Given the description of an element on the screen output the (x, y) to click on. 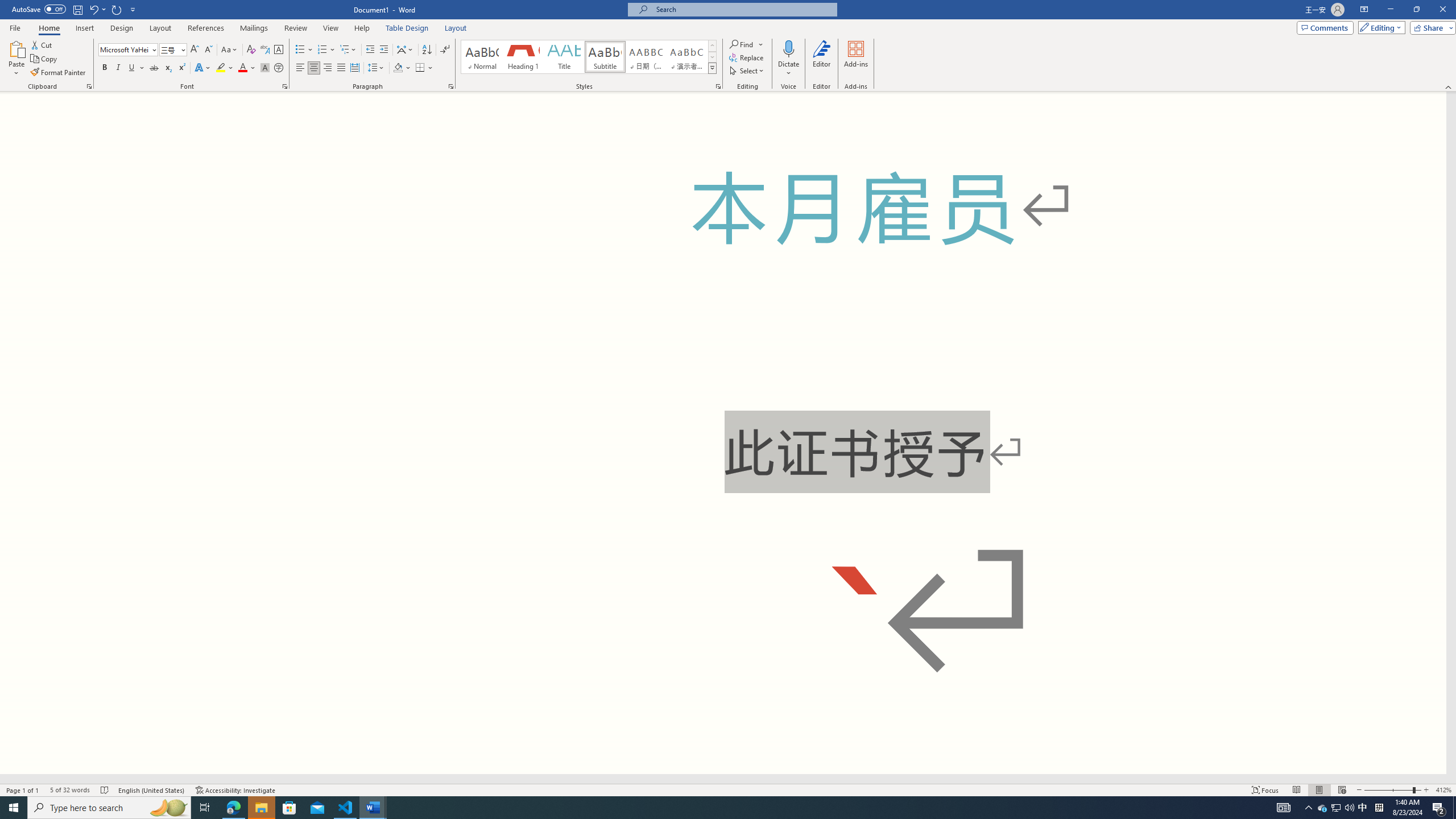
Close (1442, 9)
Character Shading (264, 67)
Save (77, 9)
Class: NetUIImage (712, 68)
View (330, 28)
Align Right (327, 67)
Undo Apply Quick Style (96, 9)
More Options (788, 68)
Title (564, 56)
Print Layout (1318, 790)
Word Count 5 of 32 words (69, 790)
Editing (1379, 27)
Microsoft search (742, 9)
Numbering (326, 49)
